Given the description of an element on the screen output the (x, y) to click on. 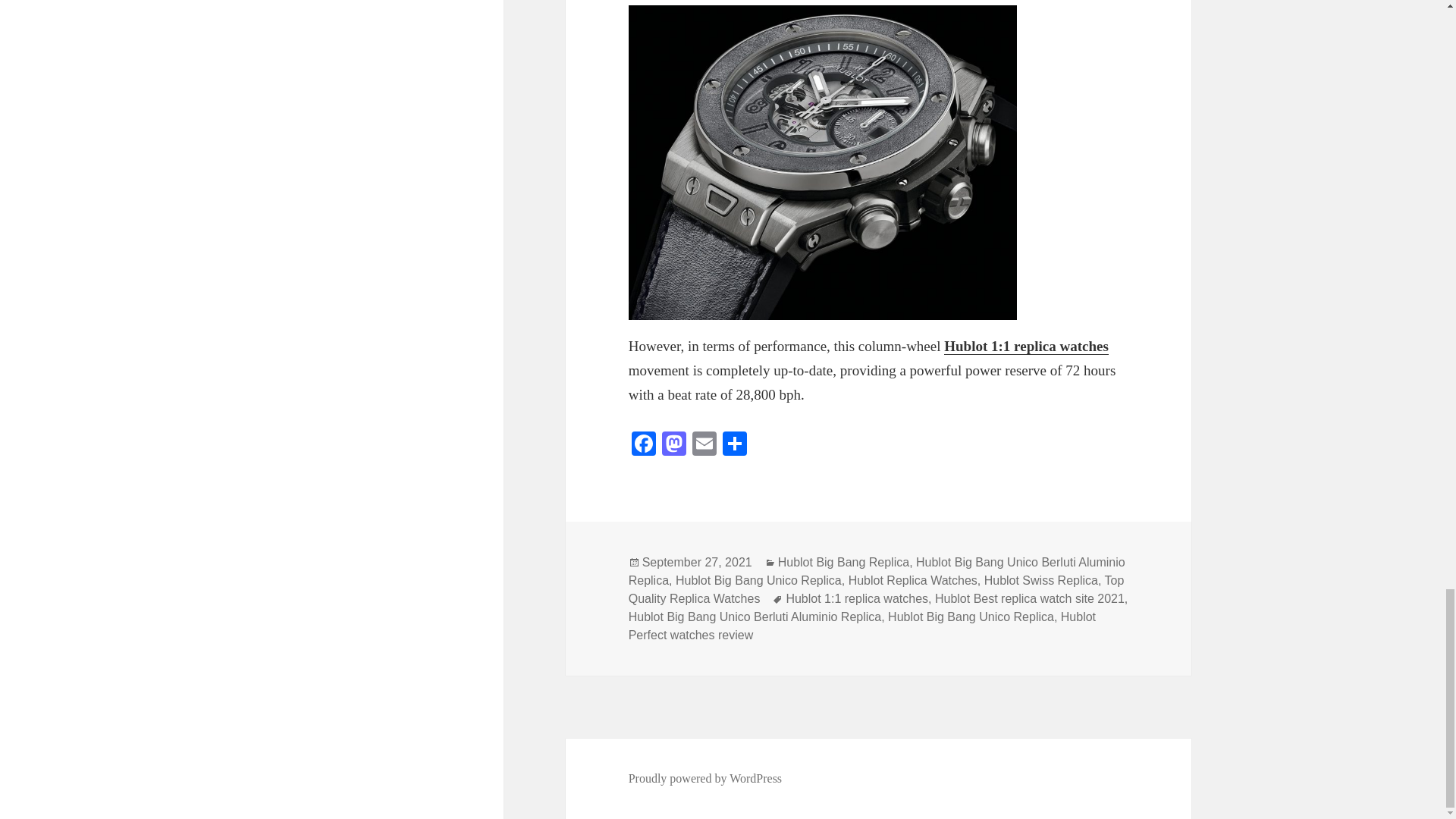
Hublot 1:1 replica watches (1025, 346)
Mastodon (673, 445)
Mastodon (673, 445)
Hublot Big Bang Replica (842, 562)
September 27, 2021 (697, 562)
Email (703, 445)
Email (703, 445)
Facebook (643, 445)
Facebook (643, 445)
